Given the description of an element on the screen output the (x, y) to click on. 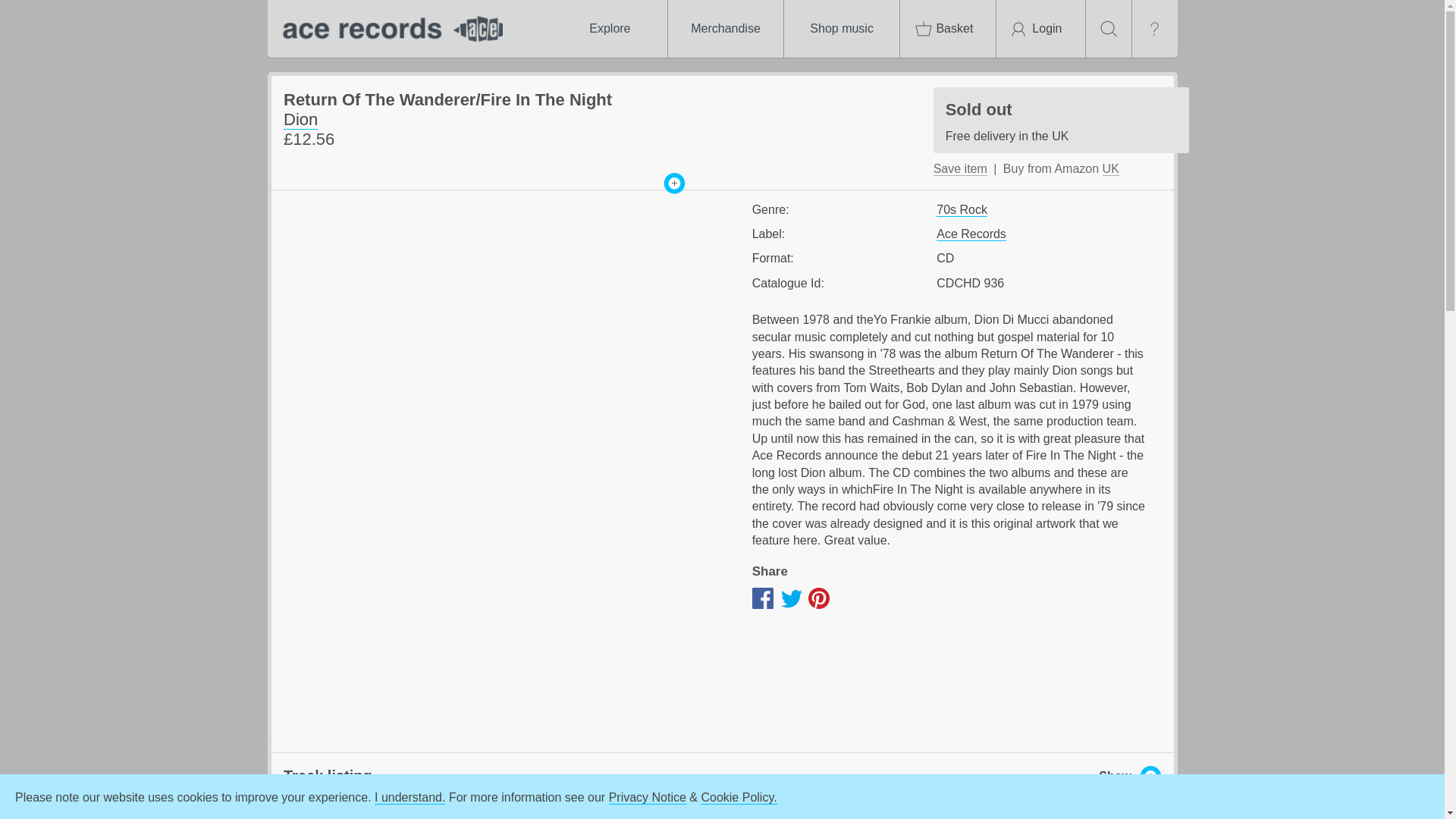
Merchandise (725, 28)
Ace Records (388, 28)
Save item (960, 169)
Dion (300, 119)
Explore (609, 28)
Ace Records (971, 233)
Shop music (841, 28)
Login (1039, 28)
70s Rock (961, 210)
Basket (947, 28)
